Given the description of an element on the screen output the (x, y) to click on. 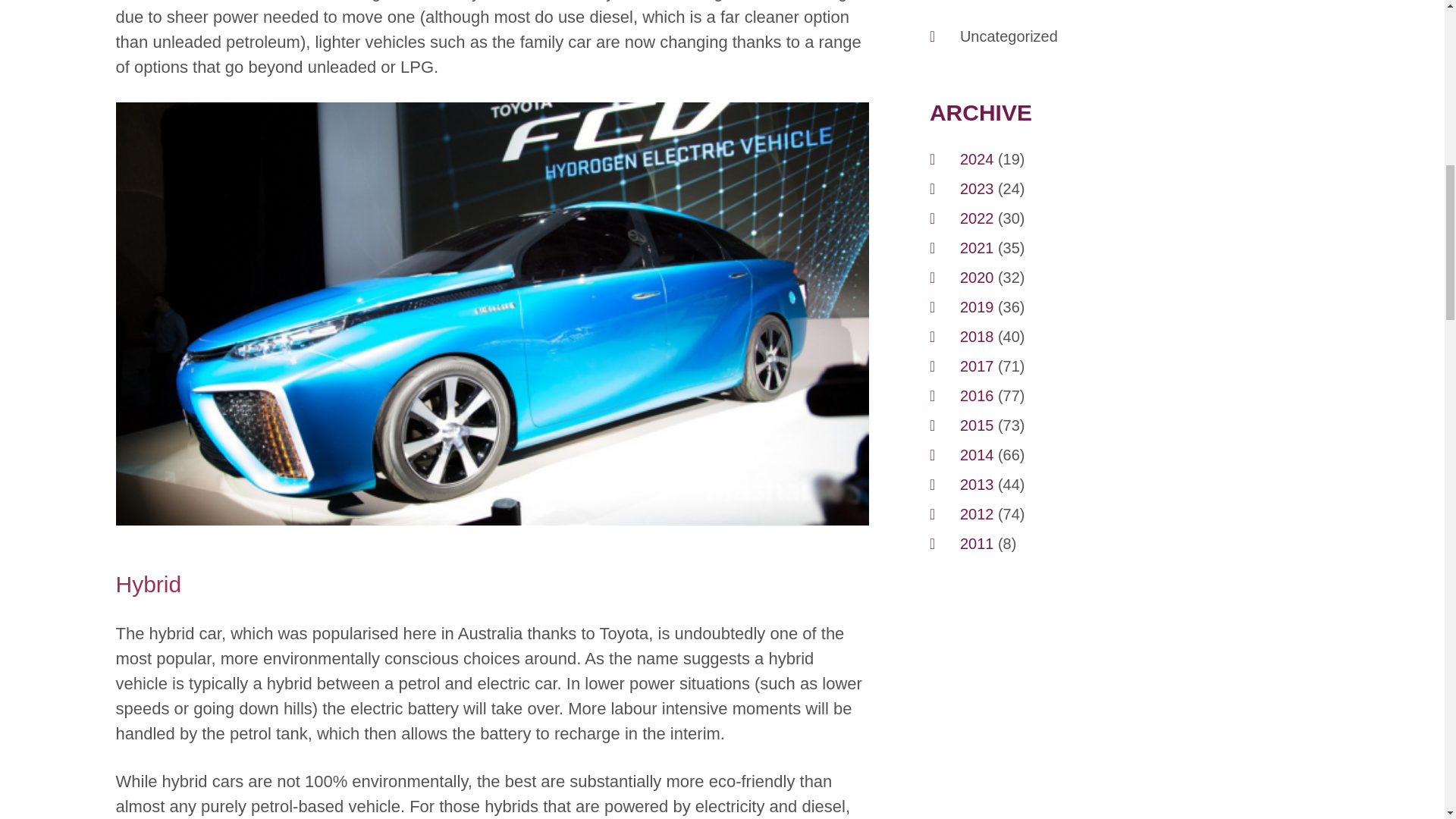
2024 (976, 158)
2023 (976, 188)
2022 (976, 217)
2021 (976, 247)
Uncategorized (1008, 36)
